Given the description of an element on the screen output the (x, y) to click on. 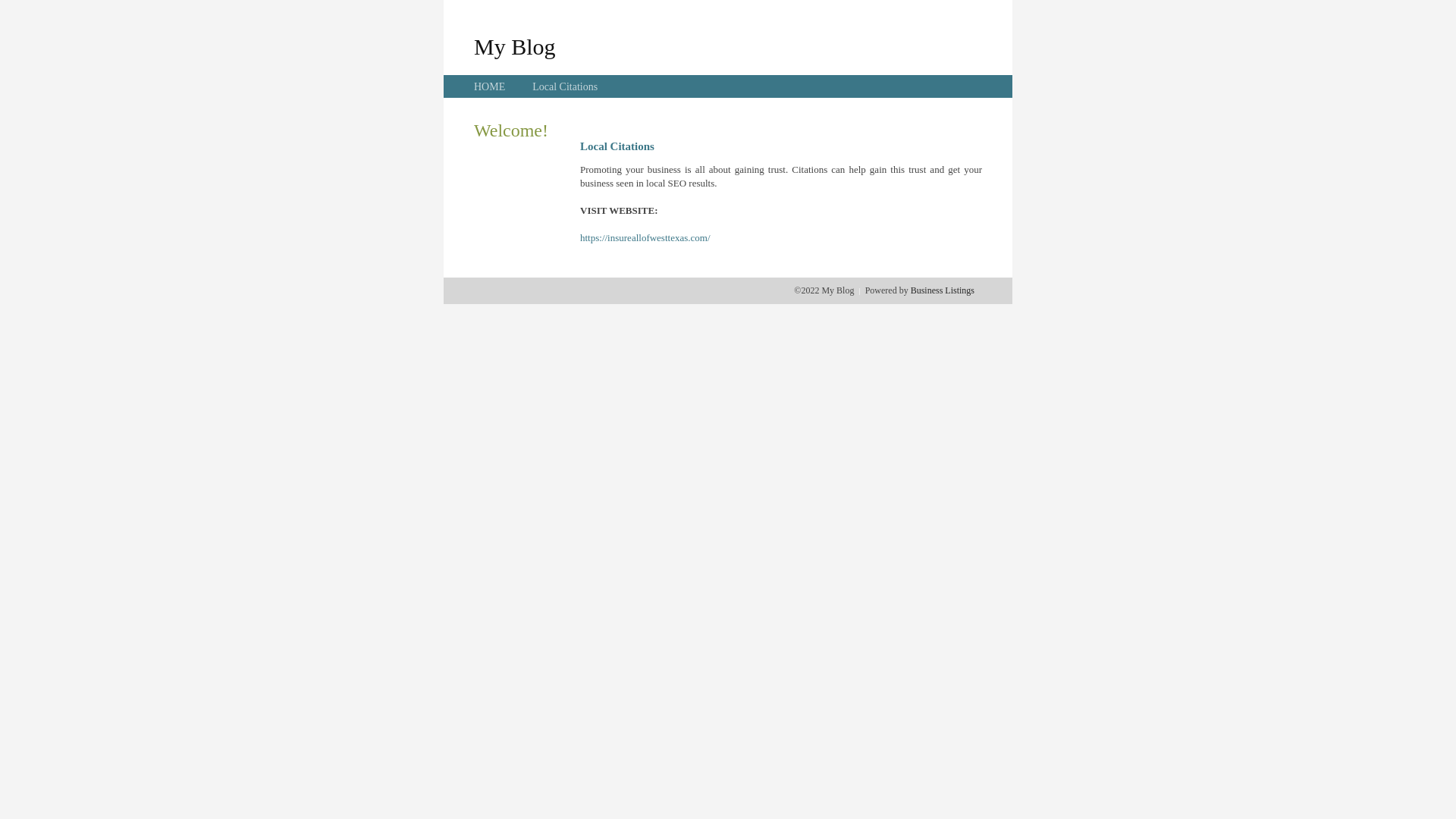
HOME Element type: text (489, 86)
Local Citations Element type: text (564, 86)
https://insureallofwesttexas.com/ Element type: text (645, 237)
Business Listings Element type: text (942, 290)
My Blog Element type: text (514, 46)
